Given the description of an element on the screen output the (x, y) to click on. 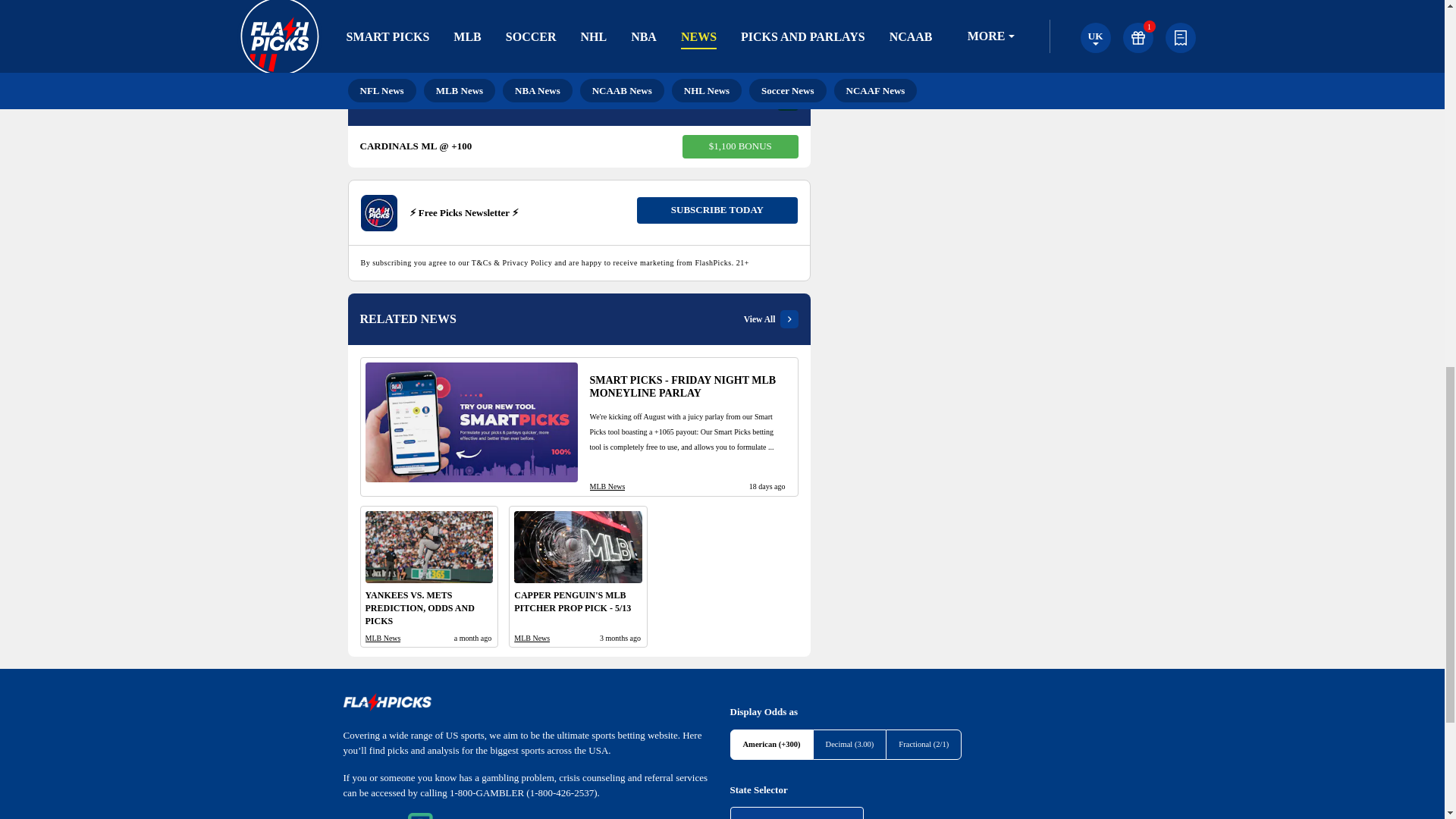
View All (770, 319)
Gambling problem helpline (493, 816)
SUBSCRIBE TODAY (716, 210)
YouTube Logo (927, 4)
